Given the description of an element on the screen output the (x, y) to click on. 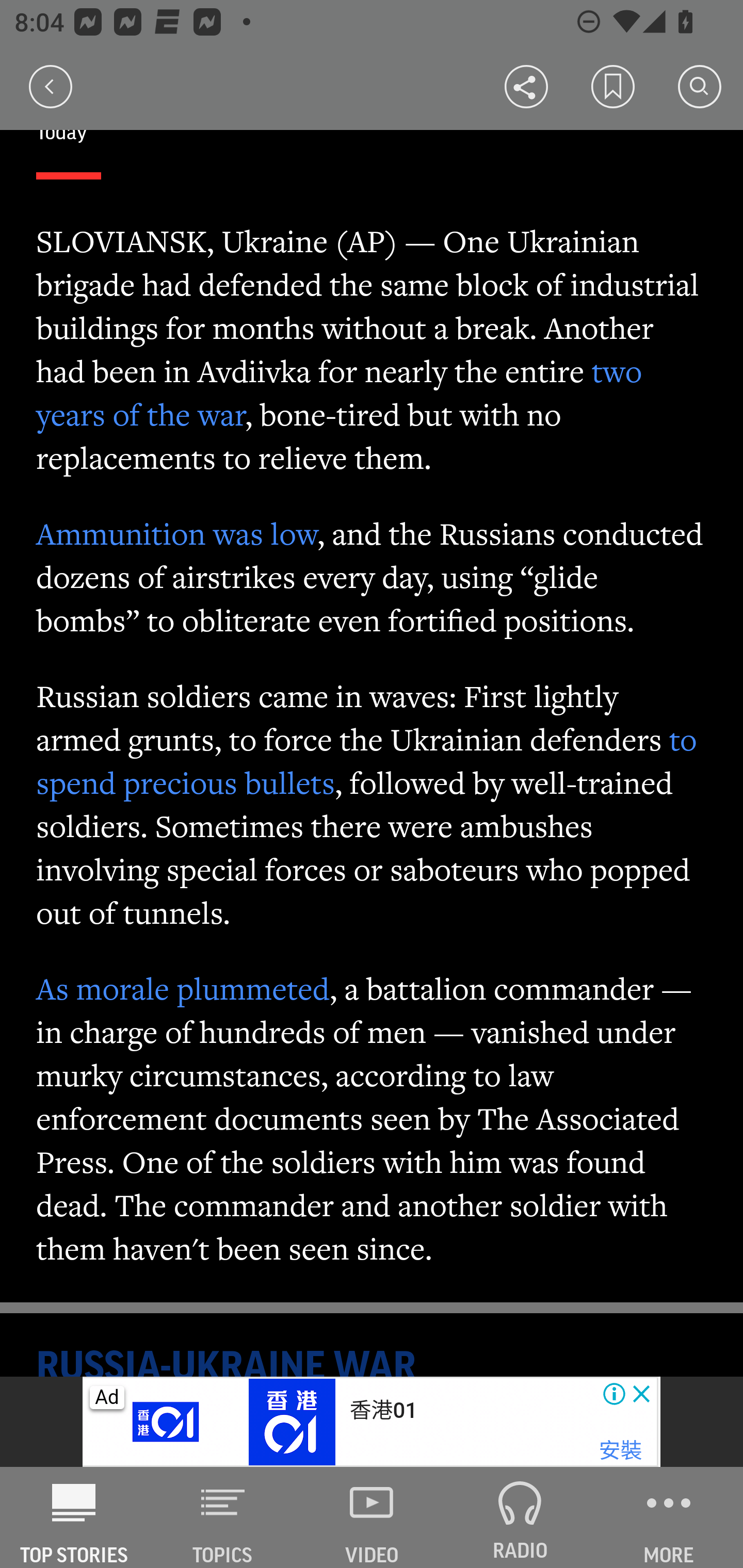
two years of the war (339, 392)
Ammunition was low (177, 533)
to spend precious bullets (367, 761)
As morale plummeted (182, 988)
B30001746 (168, 1421)
香港01 (382, 1410)
安裝 (620, 1450)
AP News TOP STORIES (74, 1517)
TOPICS (222, 1517)
VIDEO (371, 1517)
RADIO (519, 1517)
MORE (668, 1517)
